Given the description of an element on the screen output the (x, y) to click on. 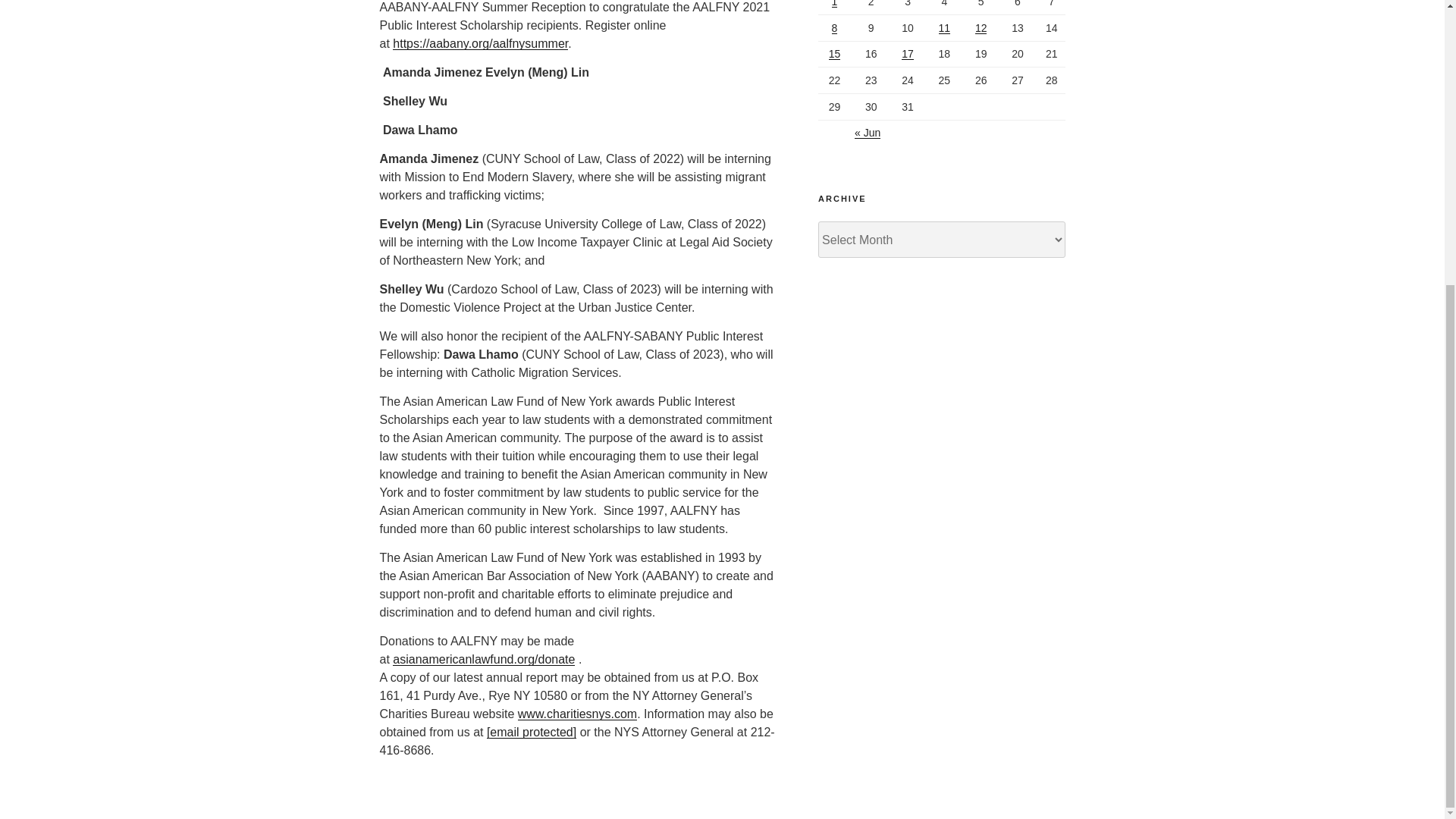
11 (944, 28)
12 (981, 28)
17 (907, 53)
15 (834, 53)
www.charitiesnys.com (577, 713)
